Given the description of an element on the screen output the (x, y) to click on. 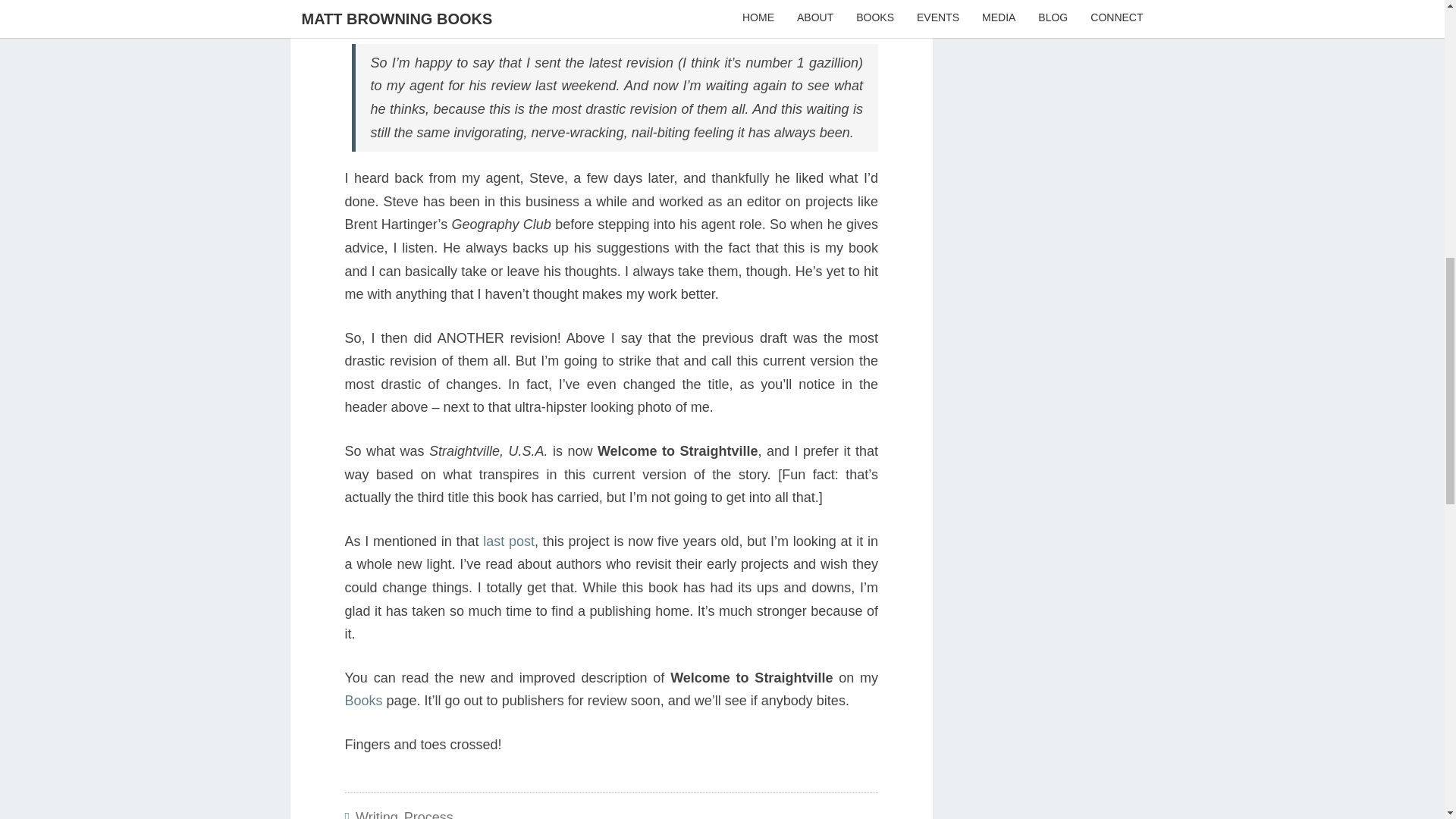
Books (362, 700)
Writing Process (403, 814)
last post (508, 540)
